Given the description of an element on the screen output the (x, y) to click on. 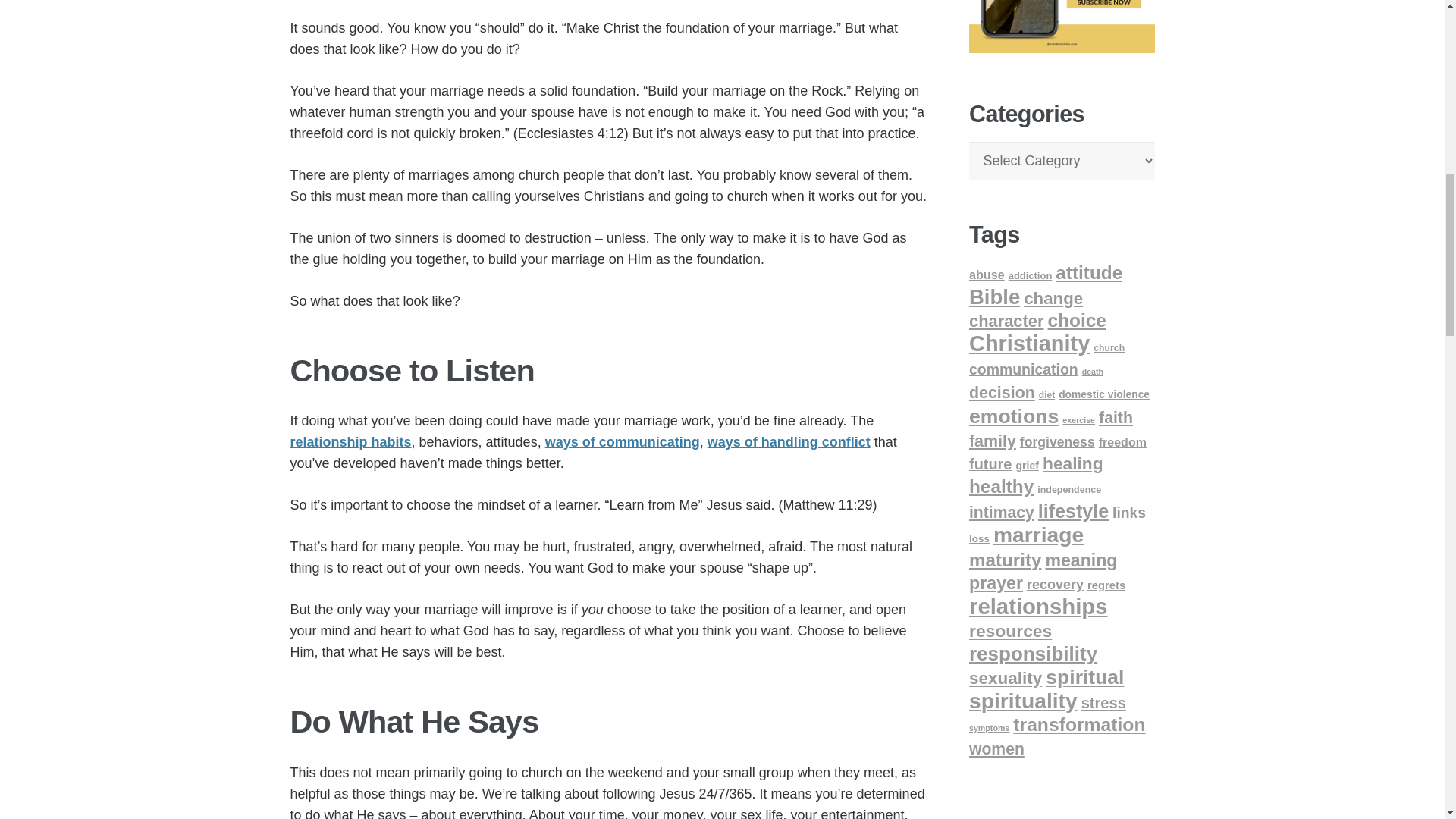
abuse (986, 274)
ways of communicating (622, 441)
ways of handling conflict (788, 441)
Back to top (1413, 26)
relationship habits (349, 441)
addiction (1030, 275)
